Given the description of an element on the screen output the (x, y) to click on. 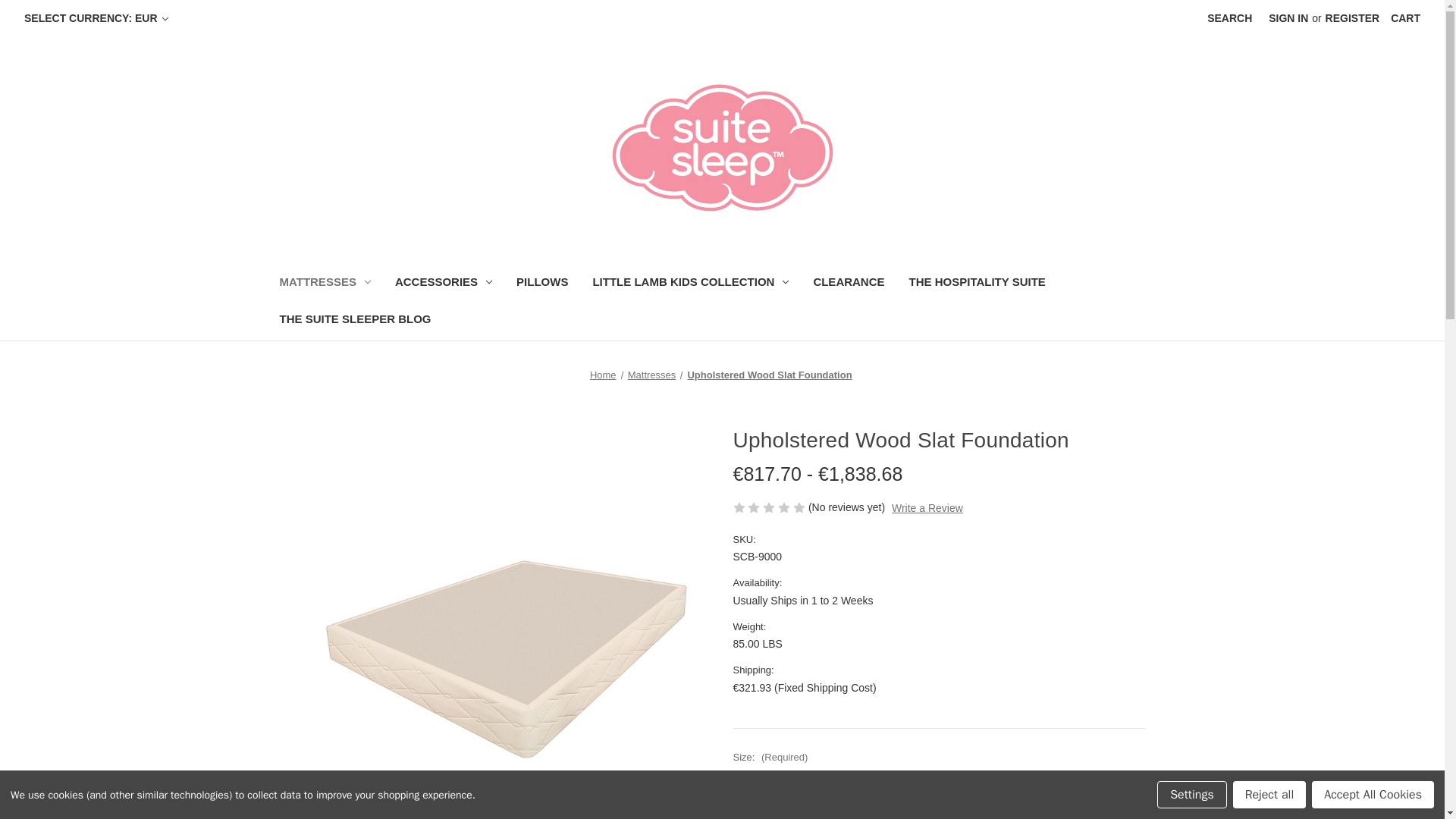
Suite Sleep, Inc. (722, 148)
SIGN IN (1288, 18)
Mattresses (652, 374)
THE SUITE SLEEPER BLOG (354, 320)
CART (1404, 18)
LITTLE LAMB KIDS COLLECTION (689, 283)
THE HOSPITALITY SUITE (977, 283)
Upholstered Wood Slat Foundation (769, 374)
MATTRESSES (323, 283)
ACCESSORIES (442, 283)
PILLOWS (541, 283)
